Given the description of an element on the screen output the (x, y) to click on. 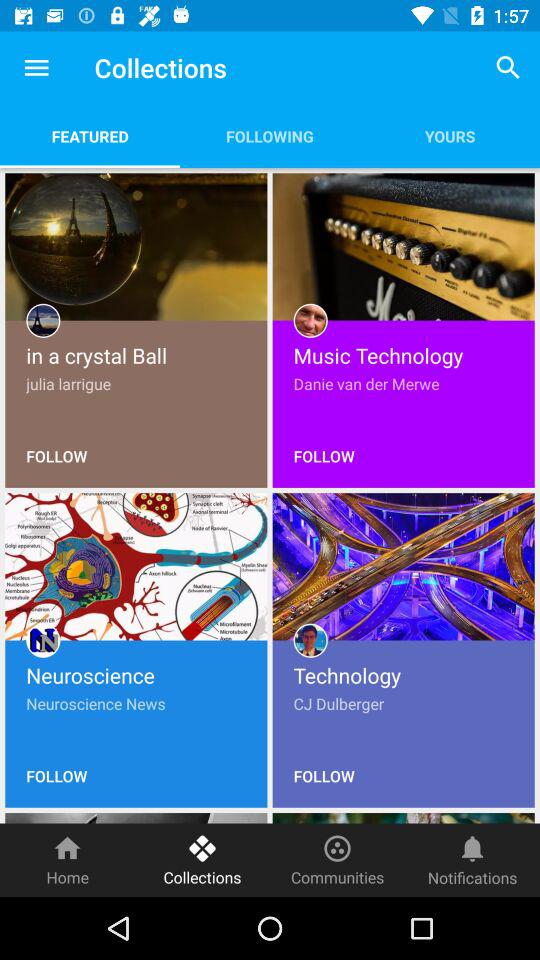
launch the item to the right of following item (450, 135)
